Given the description of an element on the screen output the (x, y) to click on. 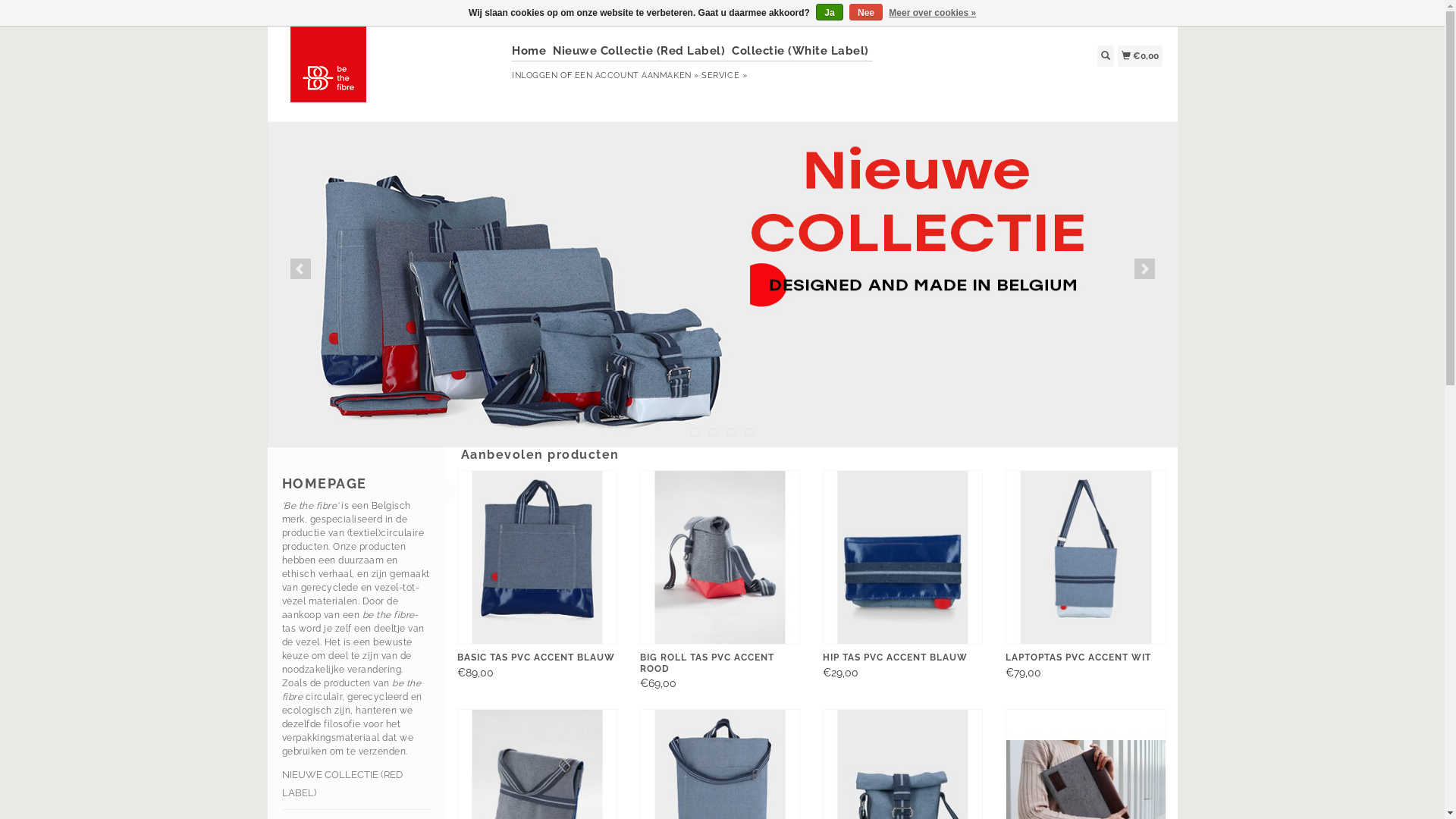
LAPTOPTAS PVC ACCENT WIT Element type: text (1085, 661)
NIEUWE COLLECTIE (RED LABEL) Element type: text (356, 783)
be the fibre Big Roll Tas PVC Accent Rood Element type: hover (719, 557)
INLOGGEN Element type: text (534, 75)
2 Element type: text (712, 431)
BIG ROLL TAS PVC ACCENT ROOD Element type: text (720, 666)
be the fibre Basic Tas PVC Accent Blauw Element type: hover (537, 557)
1 Element type: text (694, 431)
3 Element type: text (730, 431)
be the fibre Element type: hover (389, 71)
Nee Element type: text (865, 11)
Volgende Element type: hover (1144, 268)
Ja Element type: text (828, 11)
HIP TAS PVC ACCENT BLAUW Element type: text (902, 661)
Nieuwe Collectie (Red Label) Element type: text (640, 50)
be the fibre Laptoptas PVC Accent Wit Element type: hover (1085, 557)
Collectie (White Label) Element type: text (801, 50)
Vorige Element type: hover (299, 268)
be the fibre Hip Tas PVC Accent Blauw Element type: hover (902, 557)
BASIC TAS PVC ACCENT BLAUW Element type: text (536, 661)
Home Element type: text (530, 50)
4 Element type: text (748, 431)
